Given the description of an element on the screen output the (x, y) to click on. 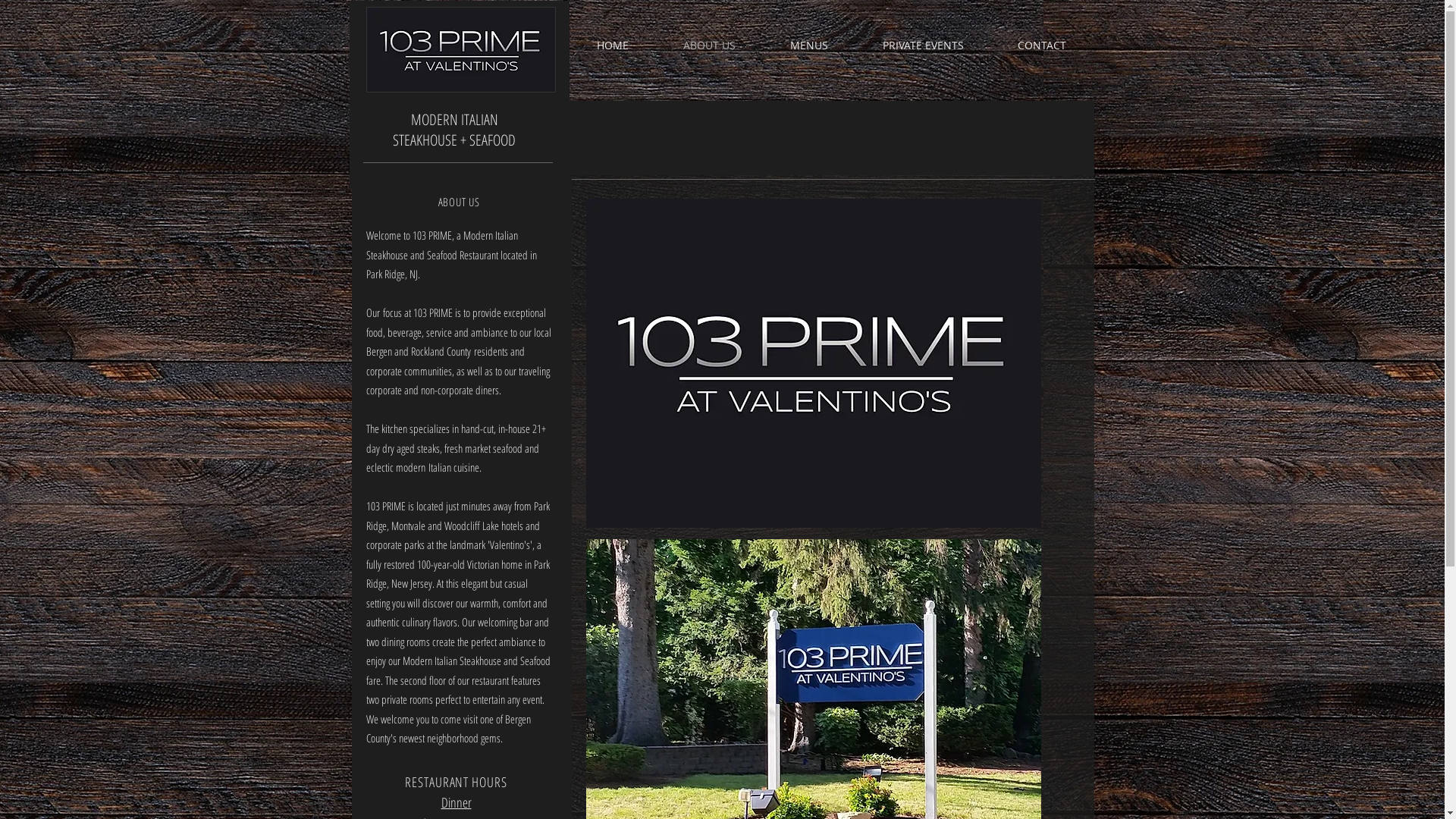
ABOUT US Element type: text (708, 45)
PRIVATE EVENTS Element type: text (923, 45)
CONTACT Element type: text (1041, 45)
HOME Element type: text (611, 45)
MENUS Element type: text (808, 45)
